Given the description of an element on the screen output the (x, y) to click on. 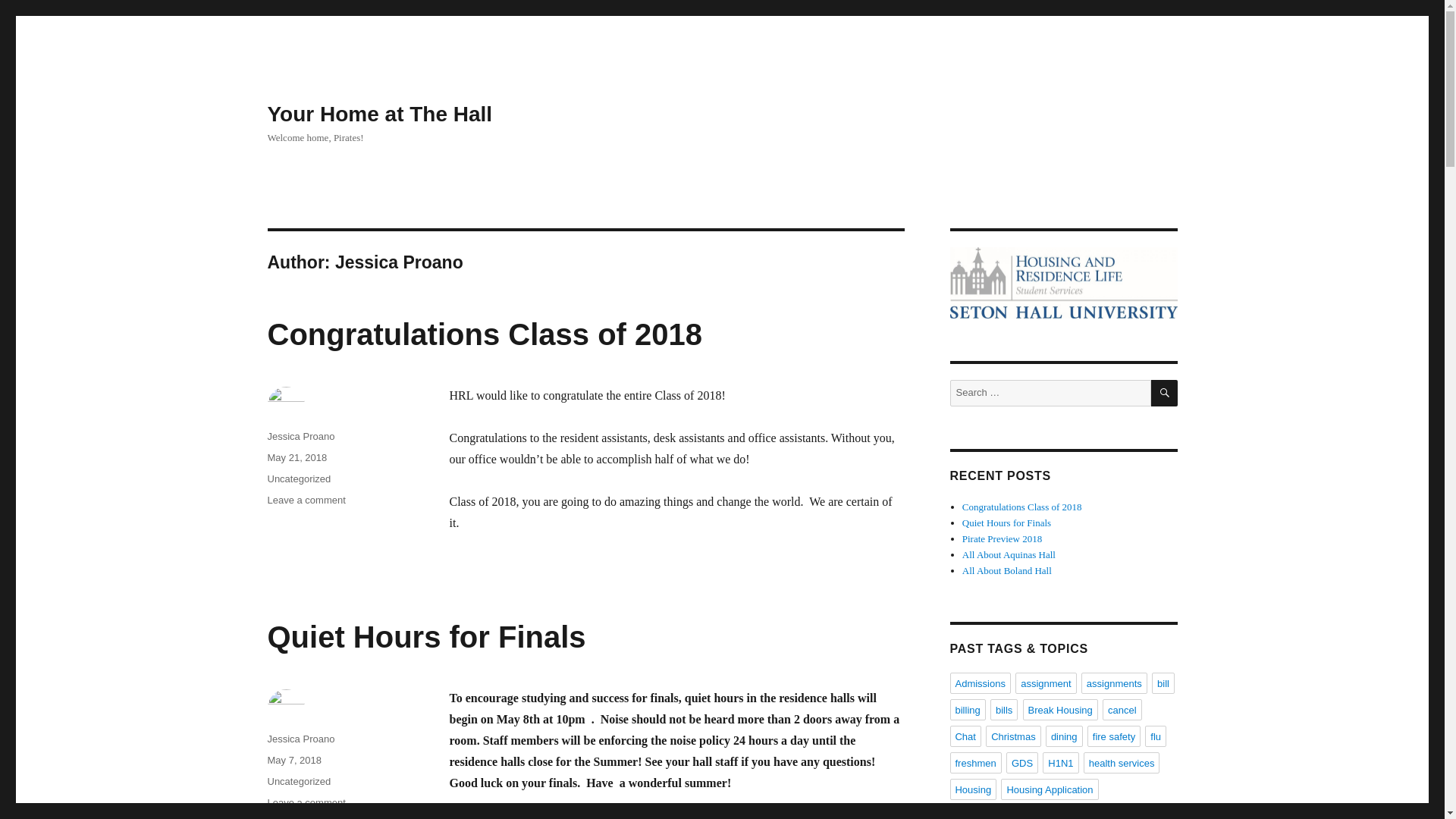
Quiet Hours for Finals (425, 636)
May 21, 2018 (296, 457)
Uncategorized (305, 802)
Your Home at The Hall (298, 781)
Jessica Proano (379, 114)
Congratulations Class of 2018 (305, 500)
Jessica Proano (300, 436)
May 7, 2018 (483, 334)
Uncategorized (300, 738)
